Given the description of an element on the screen output the (x, y) to click on. 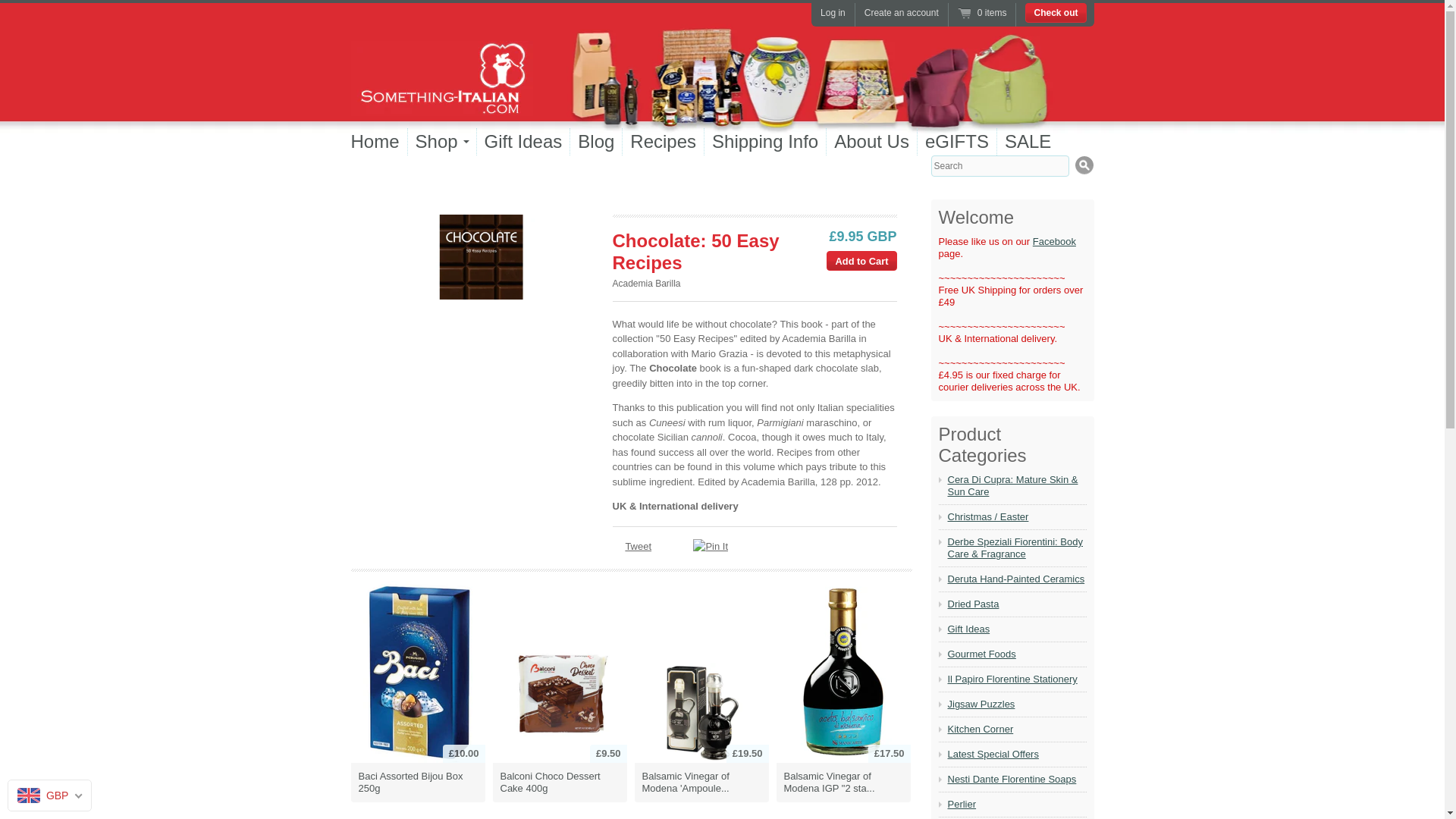
Kitchen Corner (1016, 729)
Nesti Dante Florentine Soaps (1016, 779)
Search (1084, 164)
Shop (442, 141)
Deruta Hand-Painted Ceramics (1016, 579)
Add to Cart (861, 260)
Balconi Choco Dessert Cake 400g (560, 782)
Log in (833, 12)
Check out (1055, 12)
Baci Assorted Bijou Box 250g (417, 671)
Recipes (663, 141)
Search (1084, 164)
Blog (596, 141)
eGIFTS (957, 141)
Jigsaw Puzzles (1016, 704)
